Given the description of an element on the screen output the (x, y) to click on. 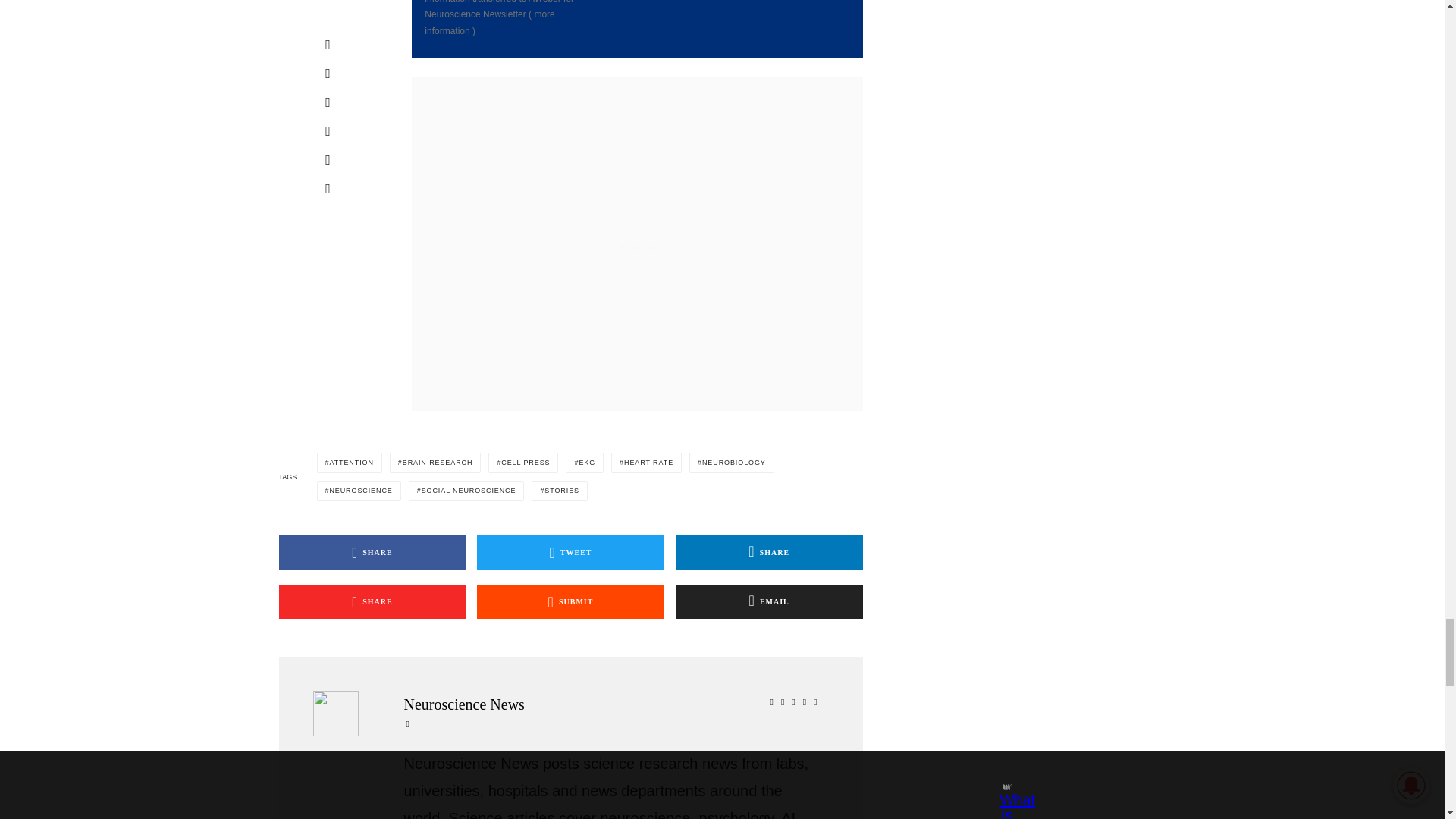
SHARE (769, 552)
ATTENTION (349, 462)
EKG (585, 462)
BRAIN RESEARCH (435, 462)
more information (489, 22)
TWEET (570, 552)
SOCIAL NEUROSCIENCE (466, 490)
NEUROSCIENCE (359, 490)
SUBMIT (570, 601)
STORIES (559, 490)
EMAIL (769, 601)
SHARE (372, 552)
CELL PRESS (522, 462)
NEUROBIOLOGY (731, 462)
SHARE (372, 601)
